Given the description of an element on the screen output the (x, y) to click on. 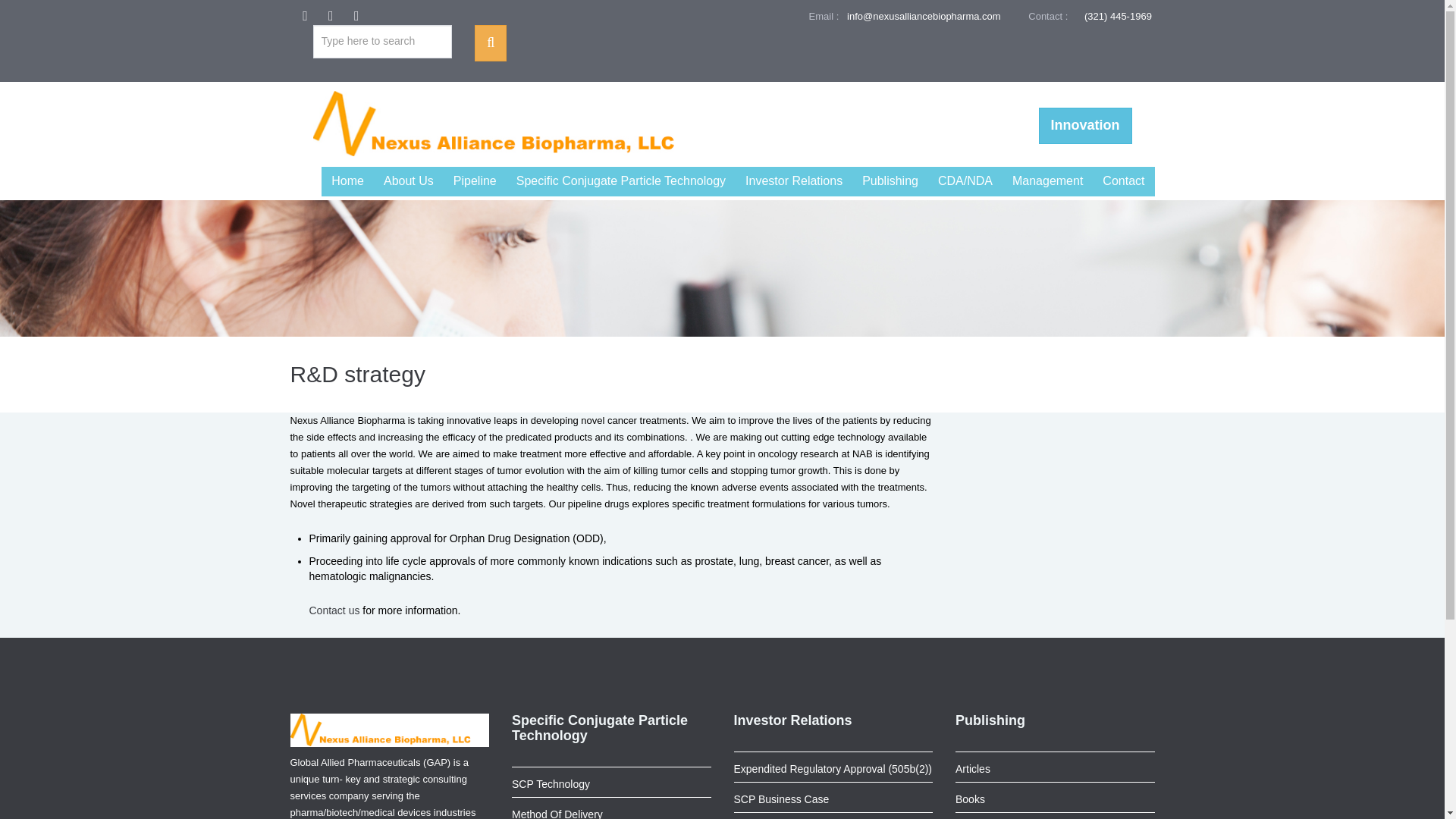
Pipeline (475, 181)
Home (347, 181)
Investor Relations (793, 181)
Innovation (1085, 125)
About Us (409, 181)
Specific Conjugate Particle Technology (620, 181)
